Given the description of an element on the screen output the (x, y) to click on. 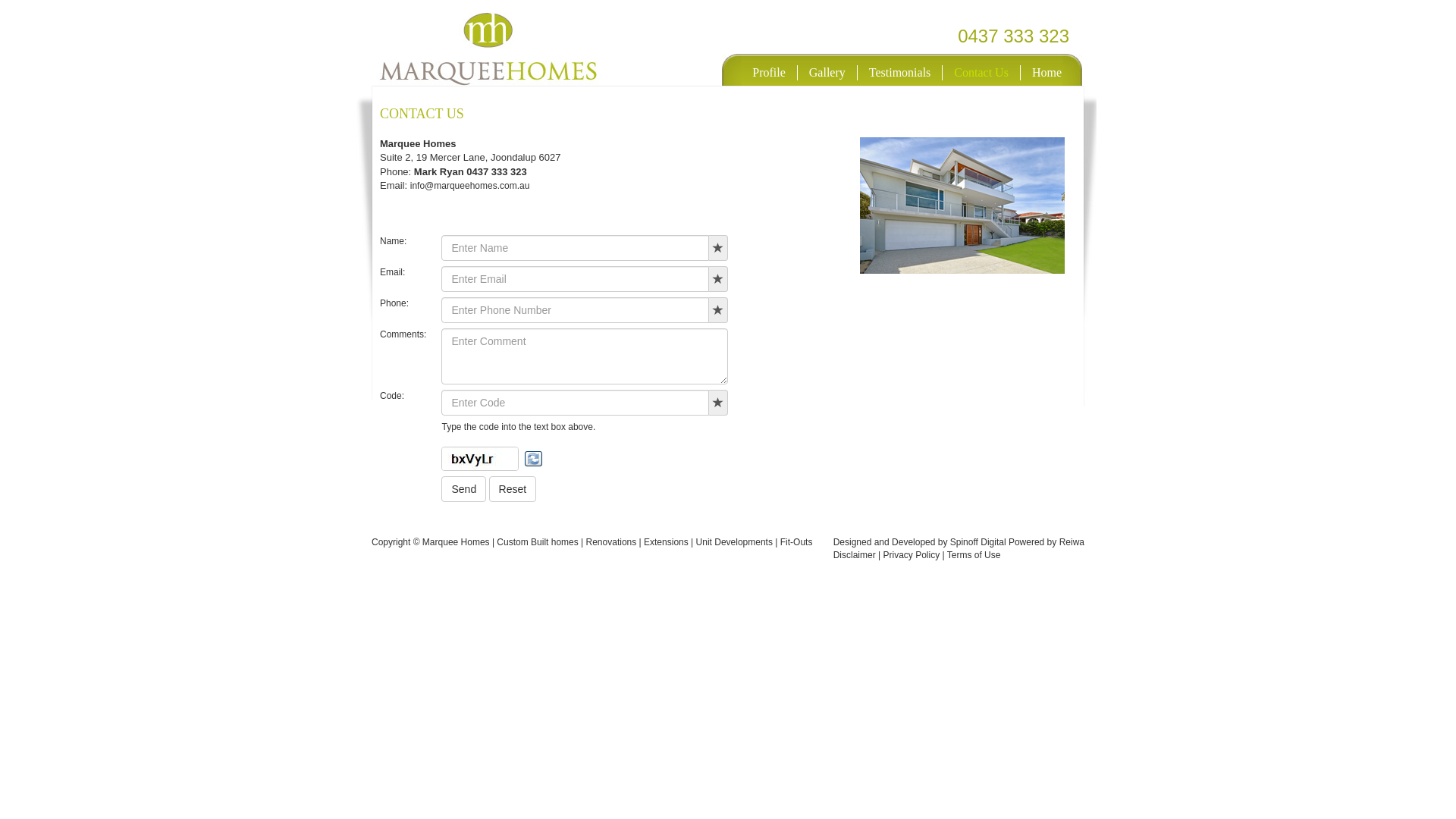
Extensions Element type: text (666, 541)
Send Element type: text (463, 489)
Custom Built homes Element type: text (536, 541)
Reset Element type: text (512, 489)
Marquee Homes Element type: hover (513, 45)
Renovations Element type: text (612, 541)
Fit-Outs Element type: text (796, 541)
Privacy Policy Element type: text (910, 554)
Disclaimer Element type: text (854, 554)
Unit Developments Element type: text (732, 541)
Testimonials Element type: text (900, 72)
Contact Us Element type: text (981, 72)
Gallery Element type: text (827, 72)
Home Element type: text (1046, 72)
Reiwa Element type: text (1071, 541)
Terms of Use Element type: text (974, 554)
info@marqueehomes.com.au Element type: text (470, 185)
Profile Element type: text (768, 72)
Spinoff Digital Element type: text (978, 541)
